Given the description of an element on the screen output the (x, y) to click on. 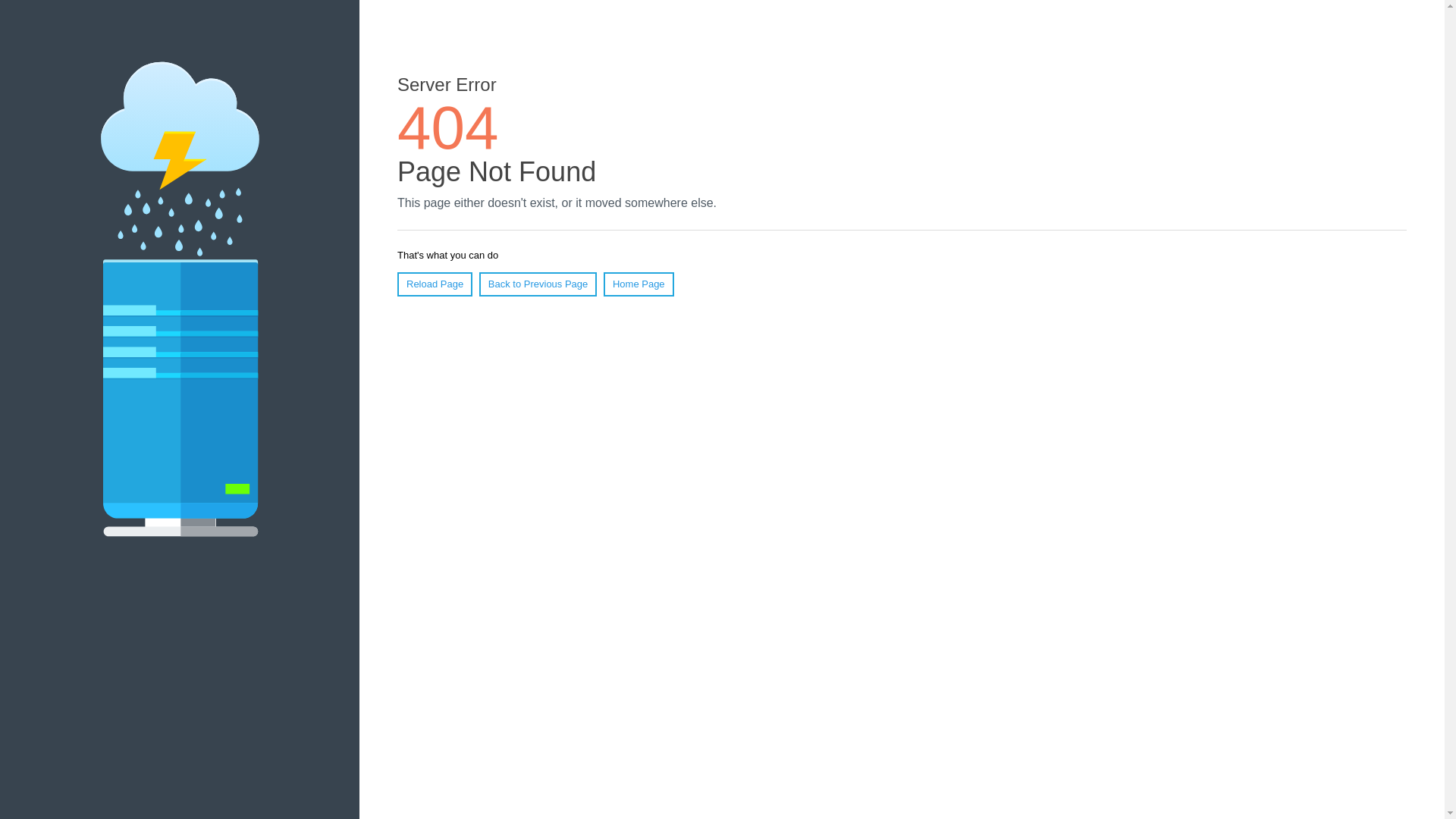
Home Page Element type: text (638, 284)
Reload Page Element type: text (434, 284)
Back to Previous Page Element type: text (538, 284)
